Given the description of an element on the screen output the (x, y) to click on. 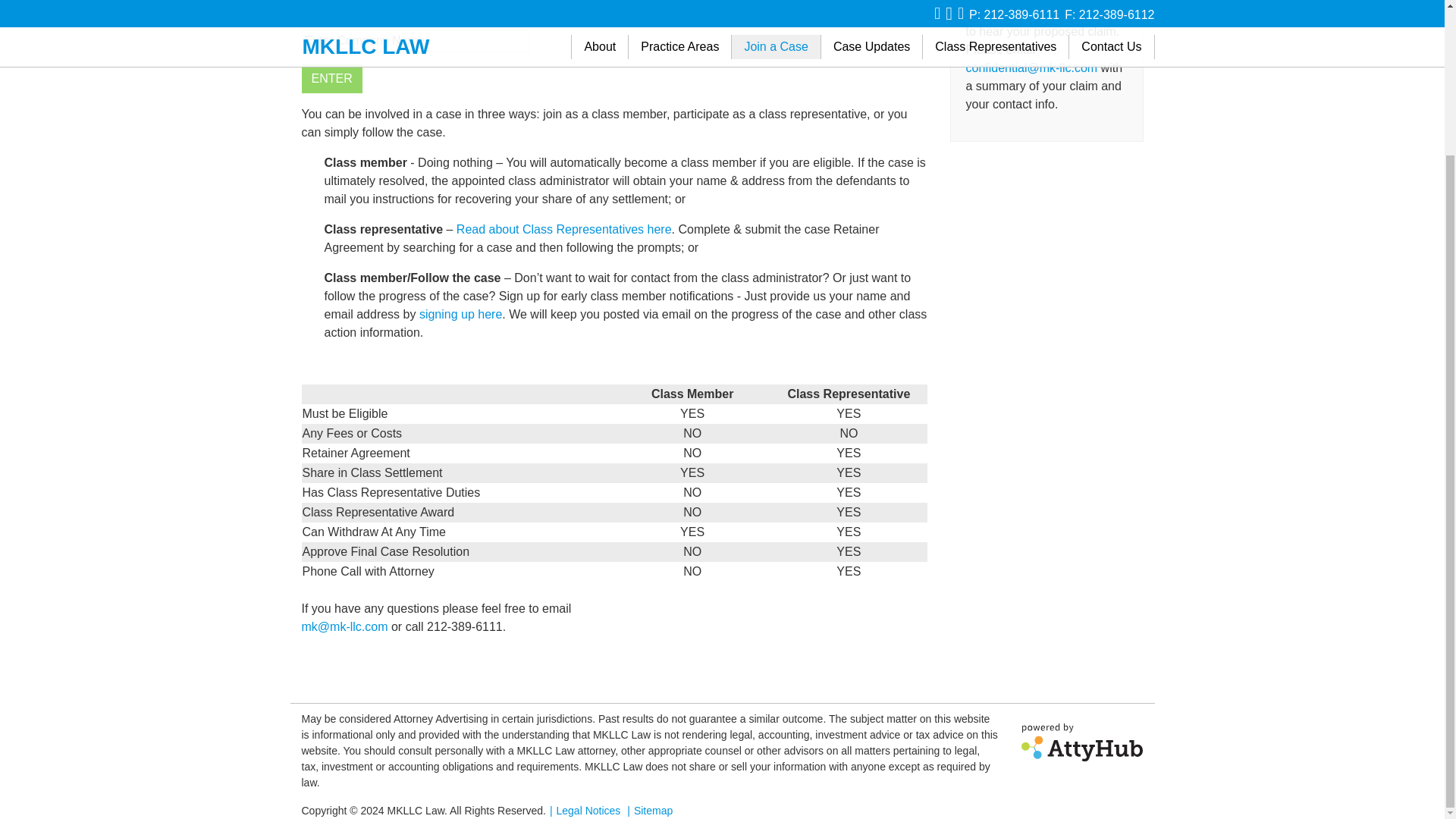
Read about Class Representatives here (564, 228)
ENTER (331, 78)
Sitemap (647, 810)
Legal Notices (583, 810)
Powered by AttyHub (1082, 742)
ENTER (331, 78)
query (415, 40)
signing up here (460, 314)
